Given the description of an element on the screen output the (x, y) to click on. 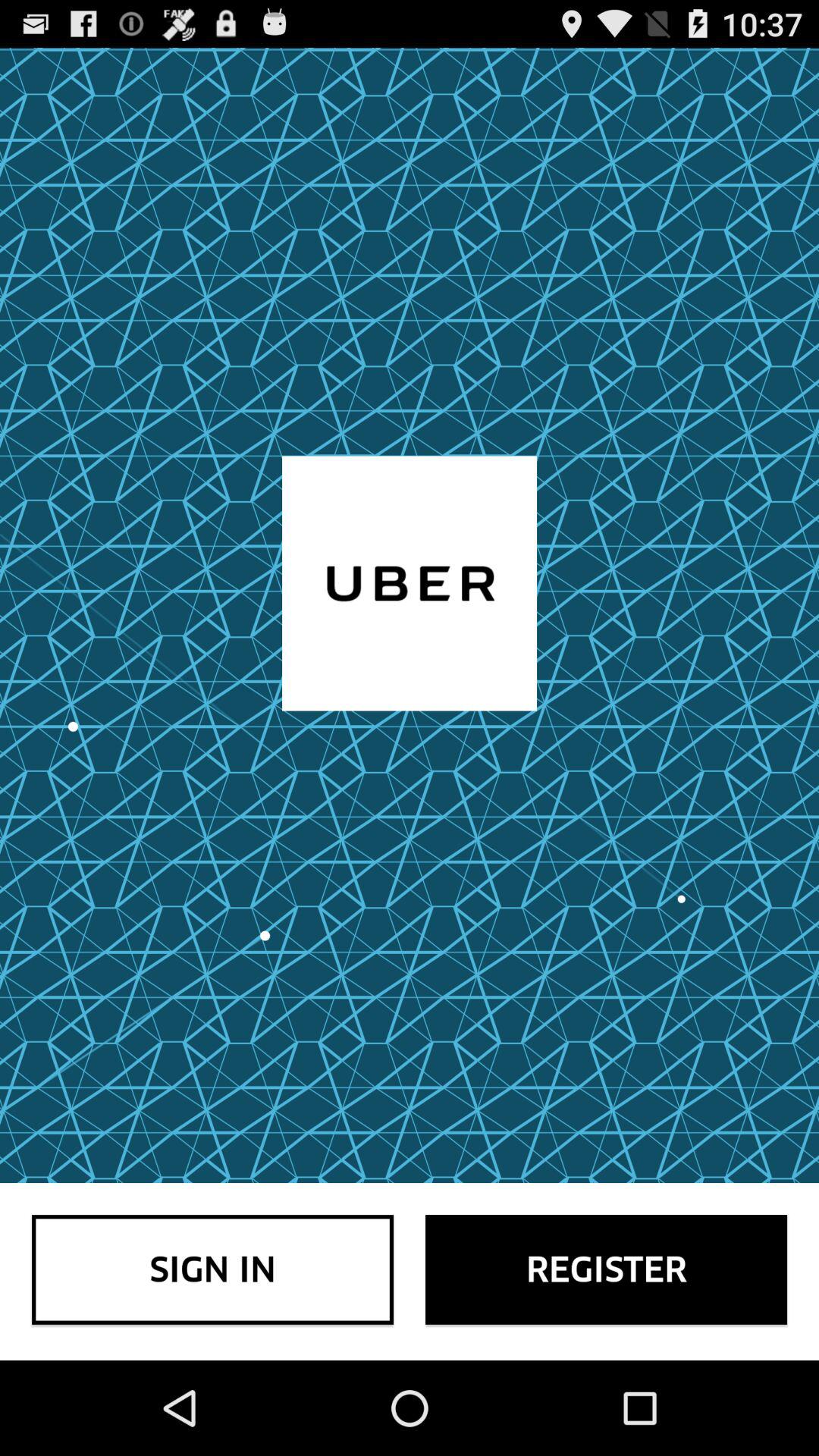
press the sign in at the bottom left corner (212, 1269)
